Given the description of an element on the screen output the (x, y) to click on. 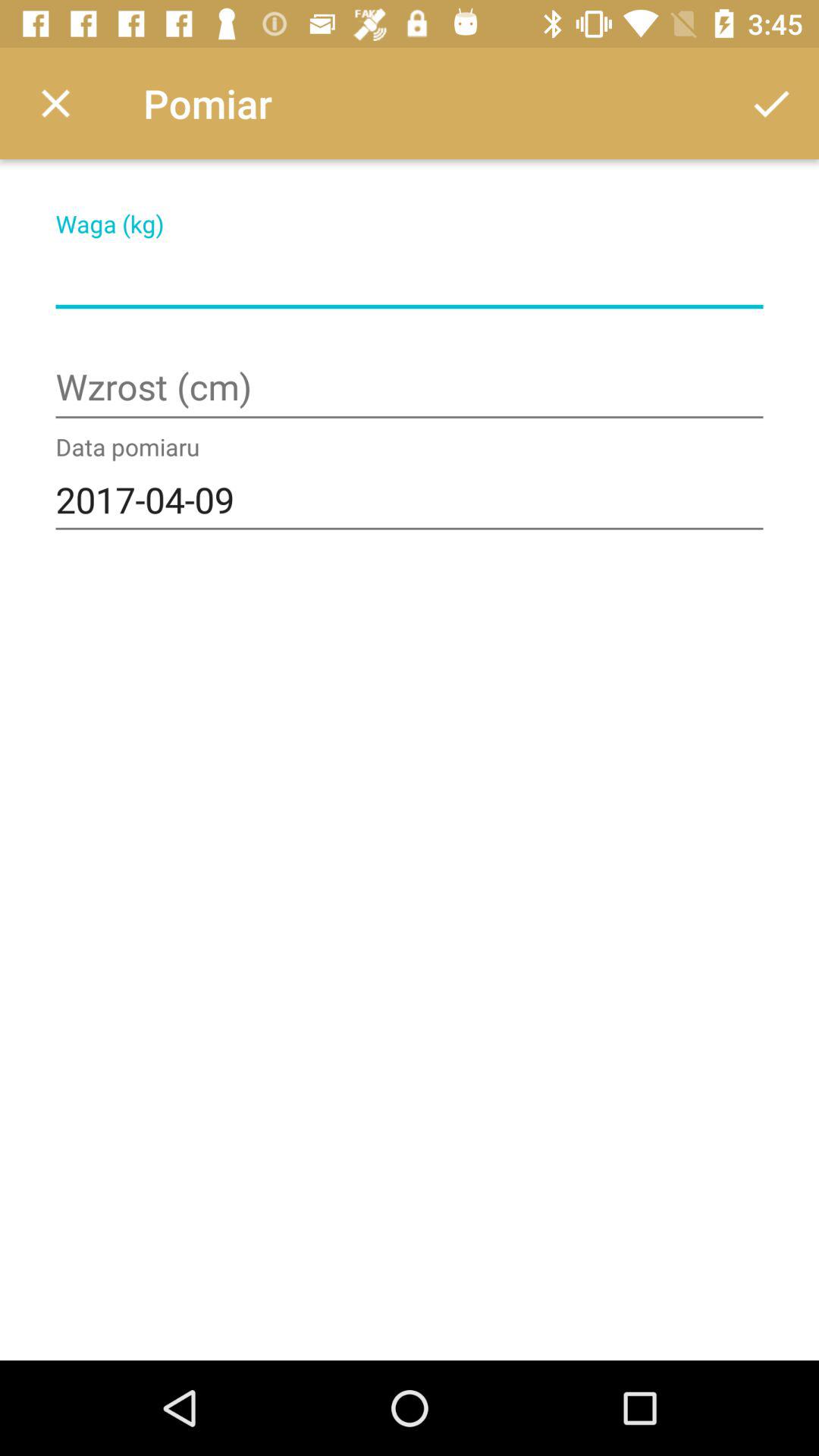
weight field (409, 277)
